Given the description of an element on the screen output the (x, y) to click on. 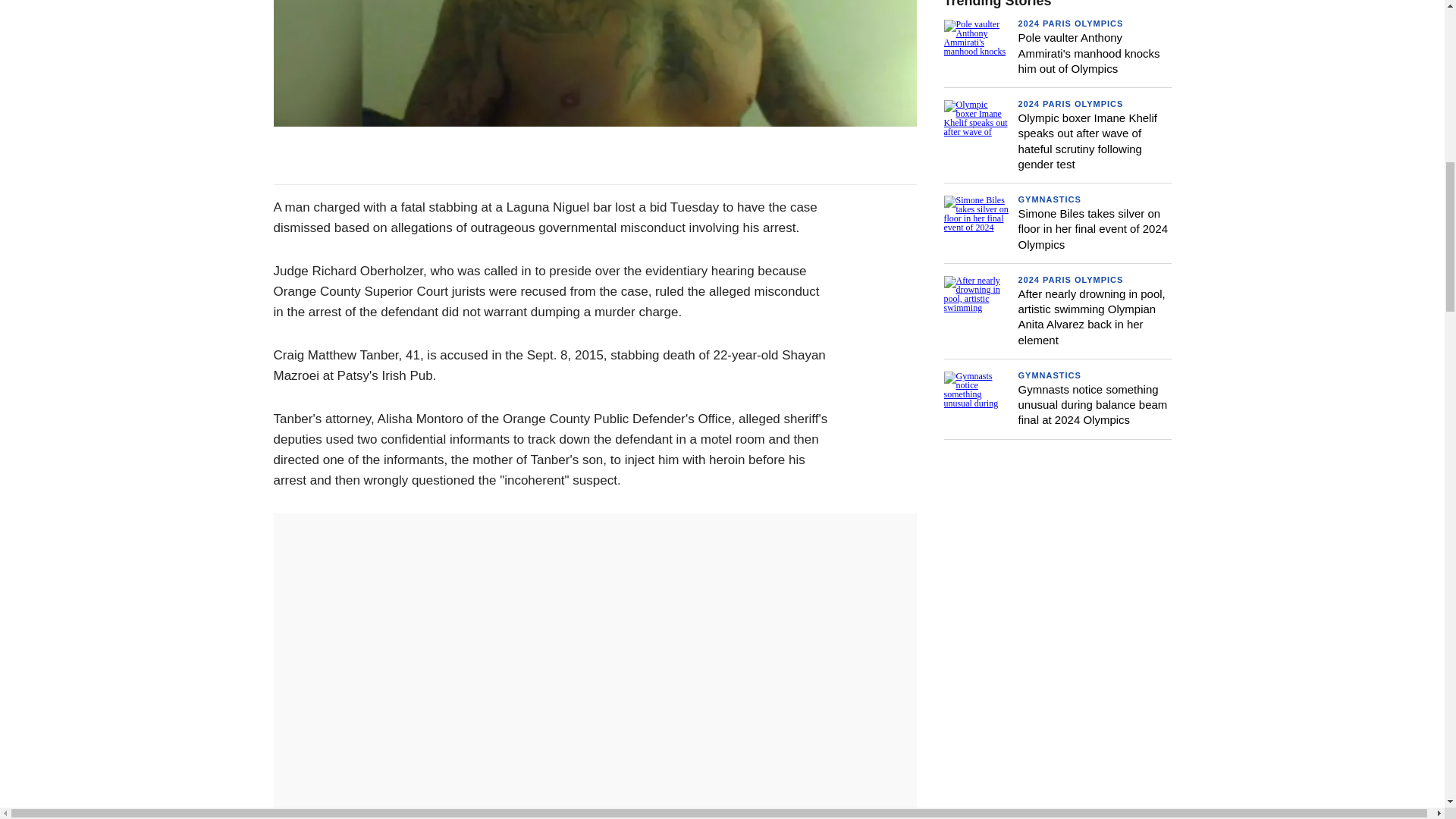
2024 PARIS OLYMPICS (1069, 22)
